Given the description of an element on the screen output the (x, y) to click on. 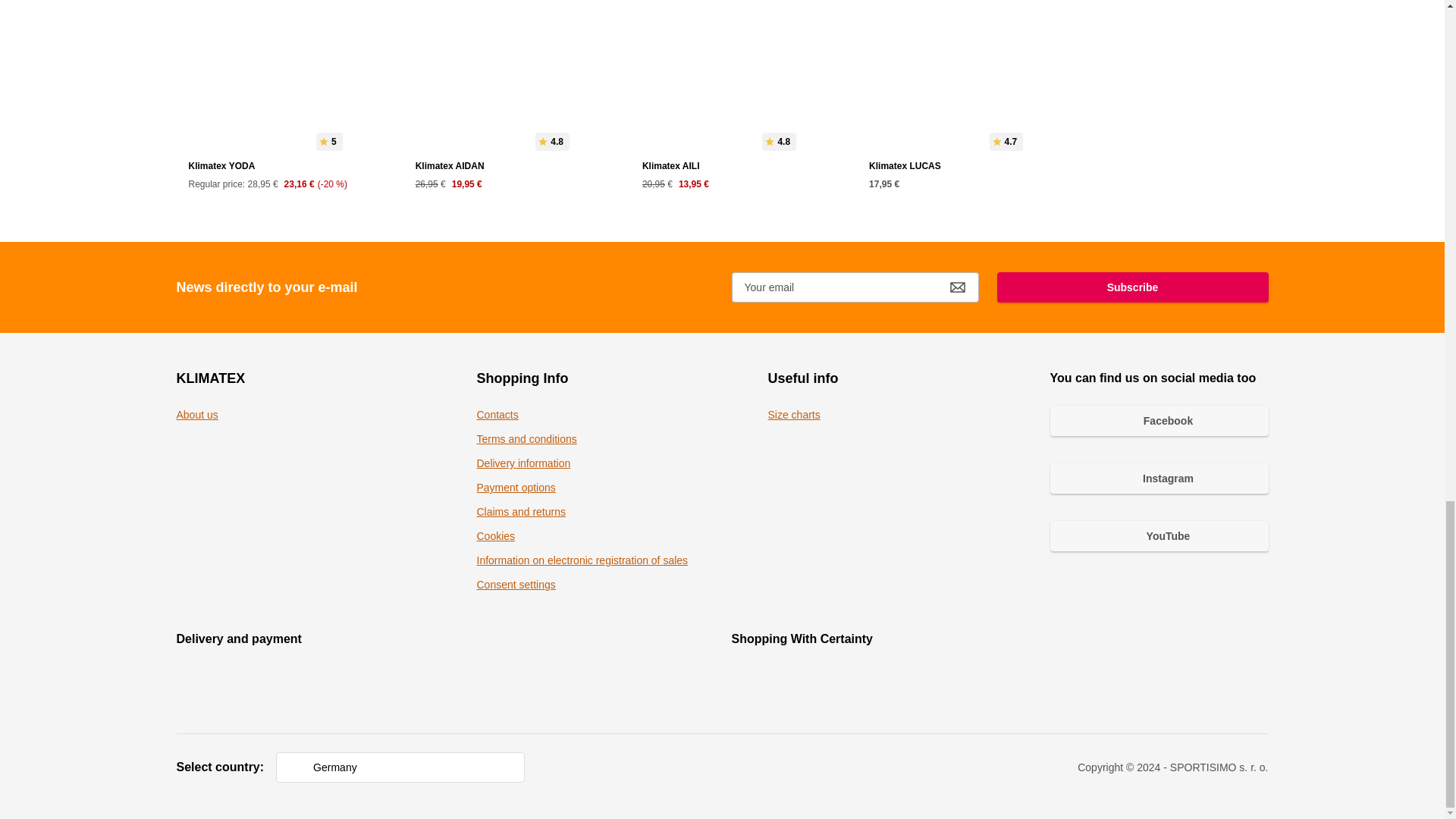
Payment options (515, 487)
Instagram (1158, 478)
Men's functional T-shirt (721, 102)
Consent settings (515, 584)
YouTube (1158, 535)
Size charts (793, 414)
Claims and returns (521, 511)
Delivery information (523, 463)
Cookies (495, 535)
